Given the description of an element on the screen output the (x, y) to click on. 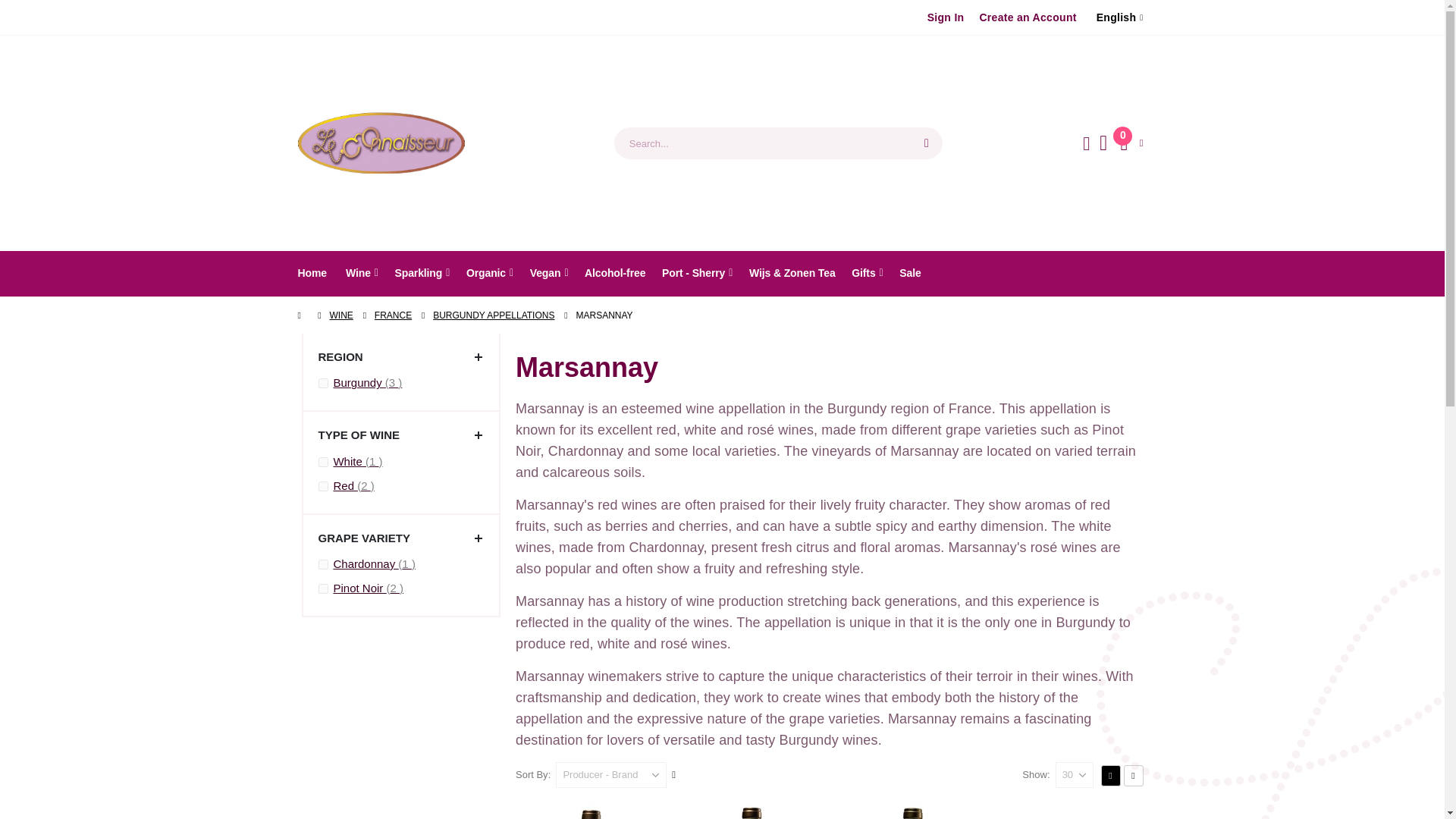
My Account (1086, 143)
on (323, 588)
Home (311, 272)
Search (926, 142)
on (323, 383)
on (323, 564)
Wine (362, 272)
on (323, 486)
Sign In (946, 17)
Wishlist (1104, 142)
Wine (362, 272)
Create an Account (1027, 17)
Le Connaisseur (380, 143)
on (1131, 142)
